Given the description of an element on the screen output the (x, y) to click on. 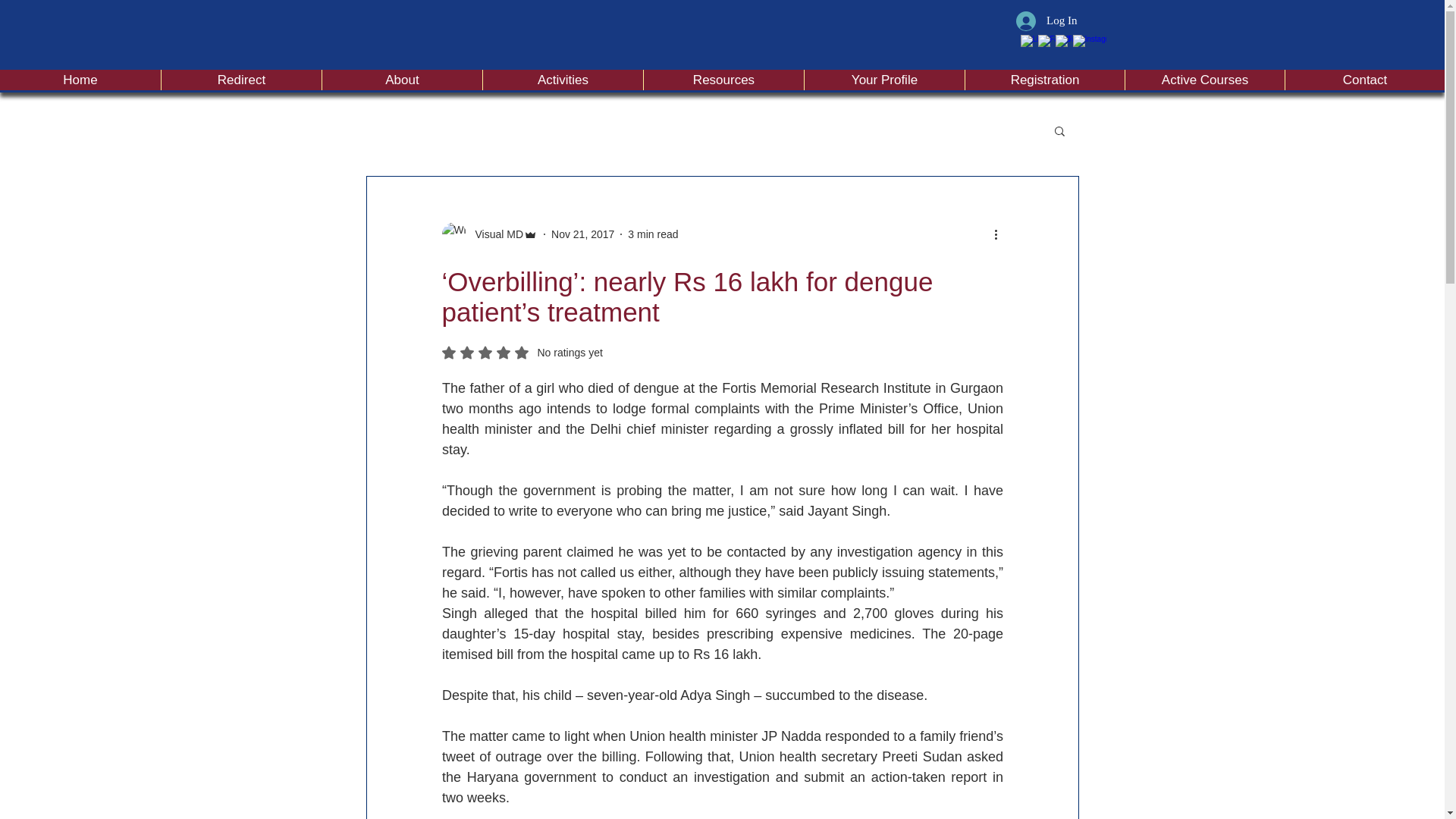
About (401, 79)
Your Profile (883, 79)
Activities (562, 79)
Visual MD (489, 233)
Redirect (240, 79)
Home (80, 79)
3 min read (652, 233)
Active Courses (1204, 79)
Registration (521, 352)
